Given the description of an element on the screen output the (x, y) to click on. 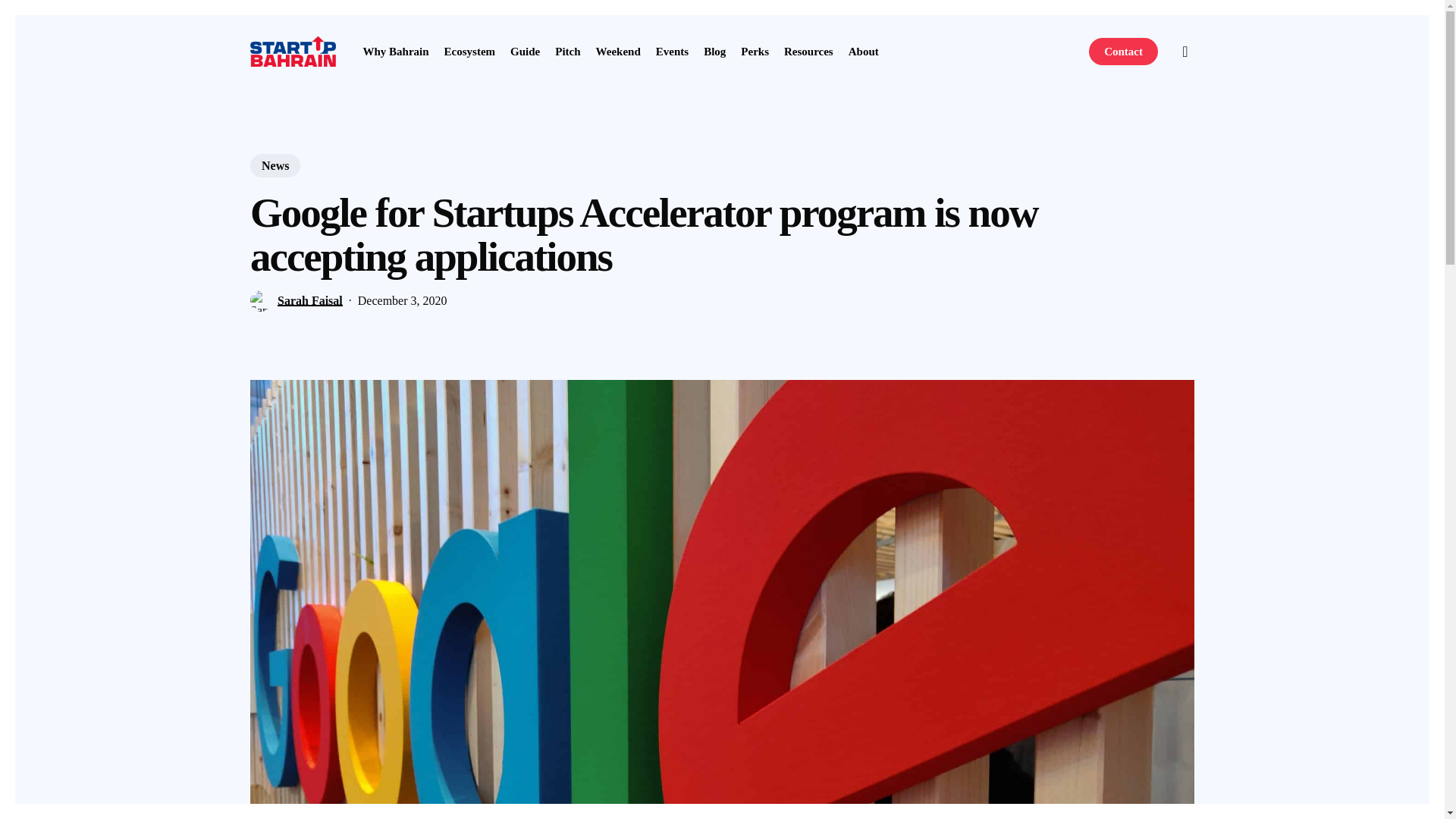
Ecosystem (469, 50)
Posts by Sarah Faisal (310, 300)
search (1184, 51)
Why Bahrain (395, 50)
Contact (1123, 50)
Perks (754, 50)
Pitch (567, 50)
About (863, 50)
Resources (808, 50)
Weekend (617, 50)
